Given the description of an element on the screen output the (x, y) to click on. 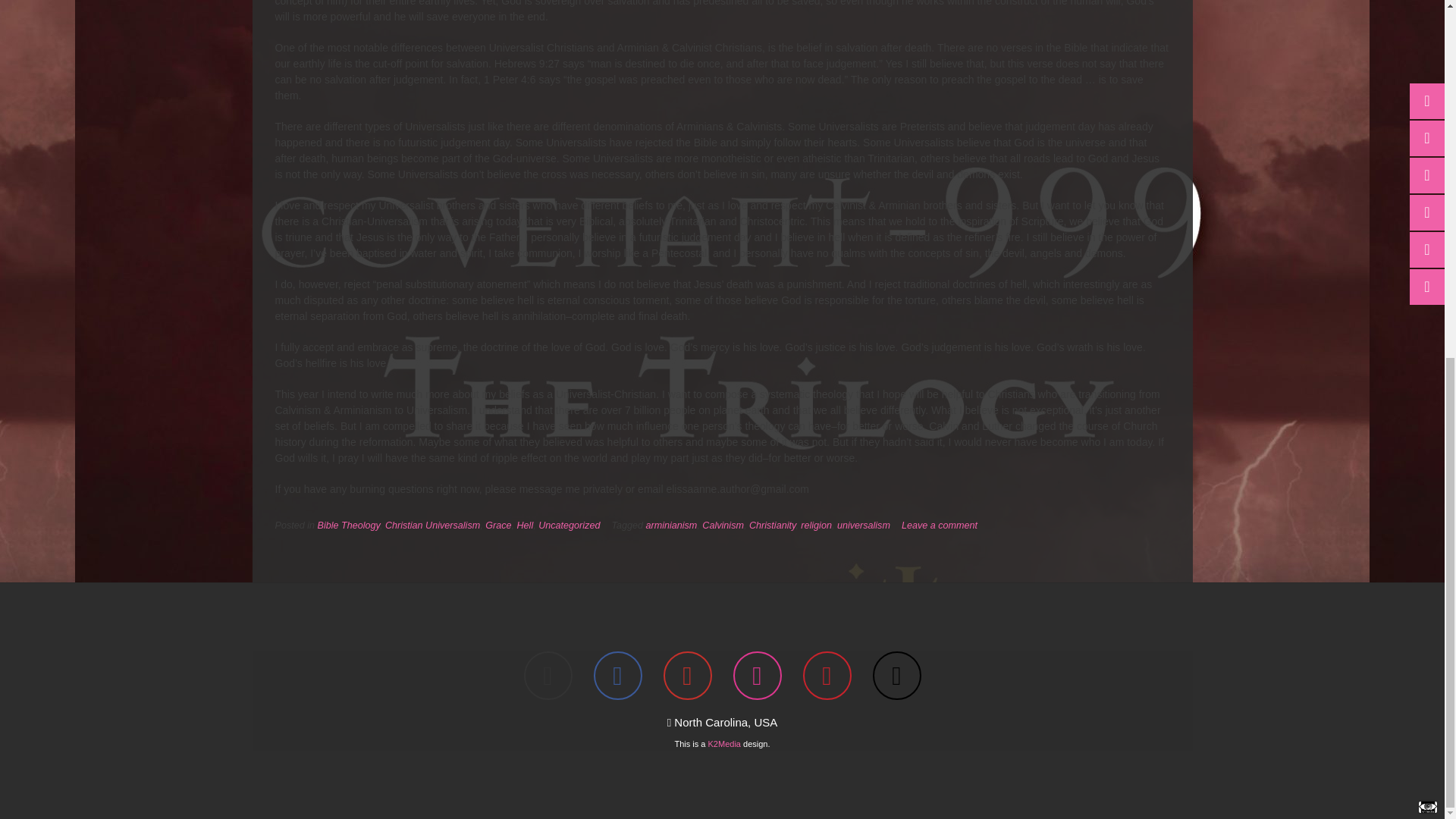
Pin Us on Pinterest (826, 675)
Bible Theology (348, 525)
Grace (497, 525)
Uncategorized (568, 525)
Calvinism (722, 525)
Christian Universalism (432, 525)
Christianity (771, 525)
religion (815, 525)
Find Us on Facebook (617, 675)
universalism (863, 525)
Hell (524, 525)
Follow Us on Instagram (756, 675)
Send Us an Email (547, 675)
arminianism (671, 525)
View our YouTube Channel (686, 675)
